Given the description of an element on the screen output the (x, y) to click on. 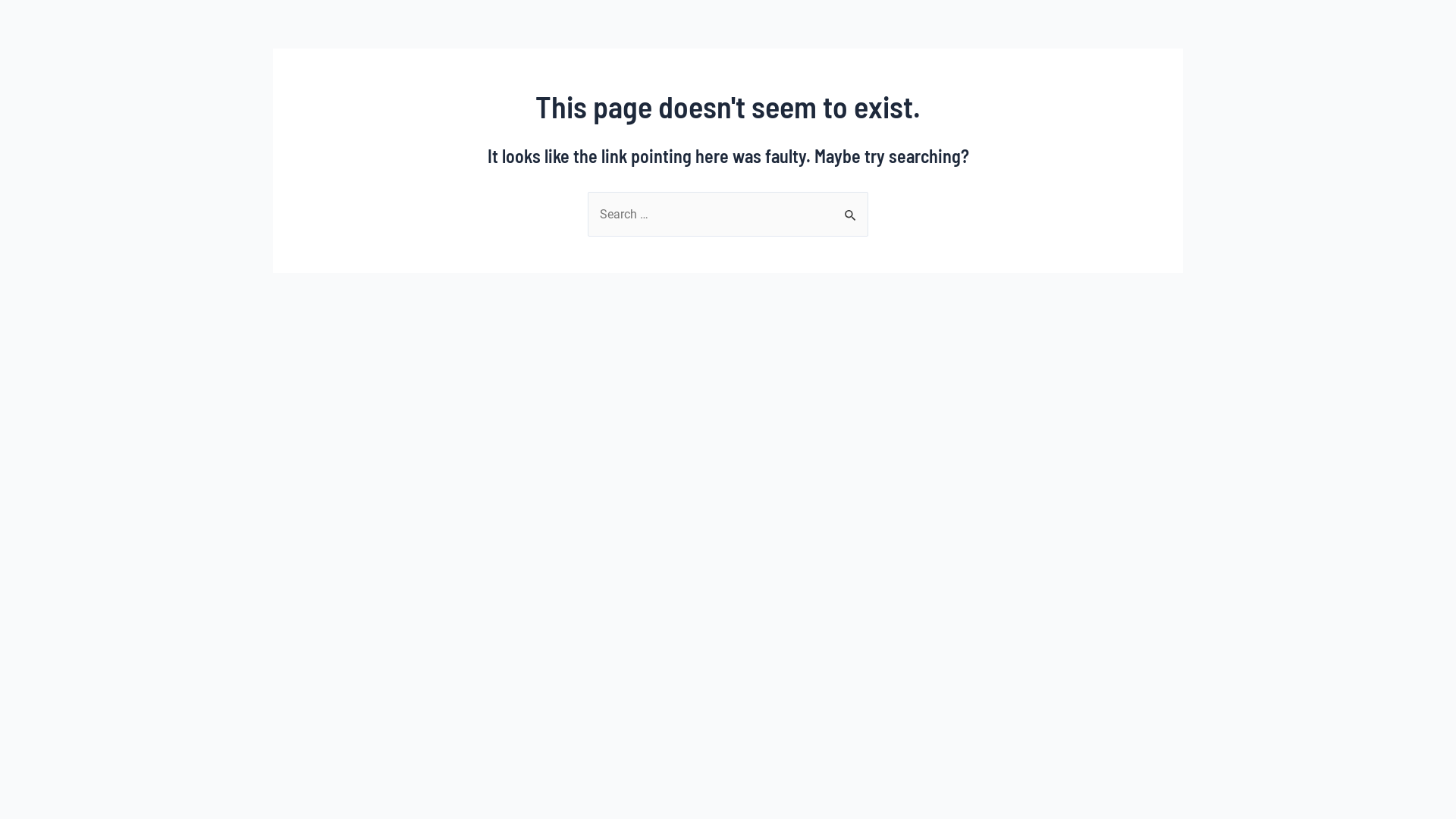
Search Element type: text (851, 207)
